Given the description of an element on the screen output the (x, y) to click on. 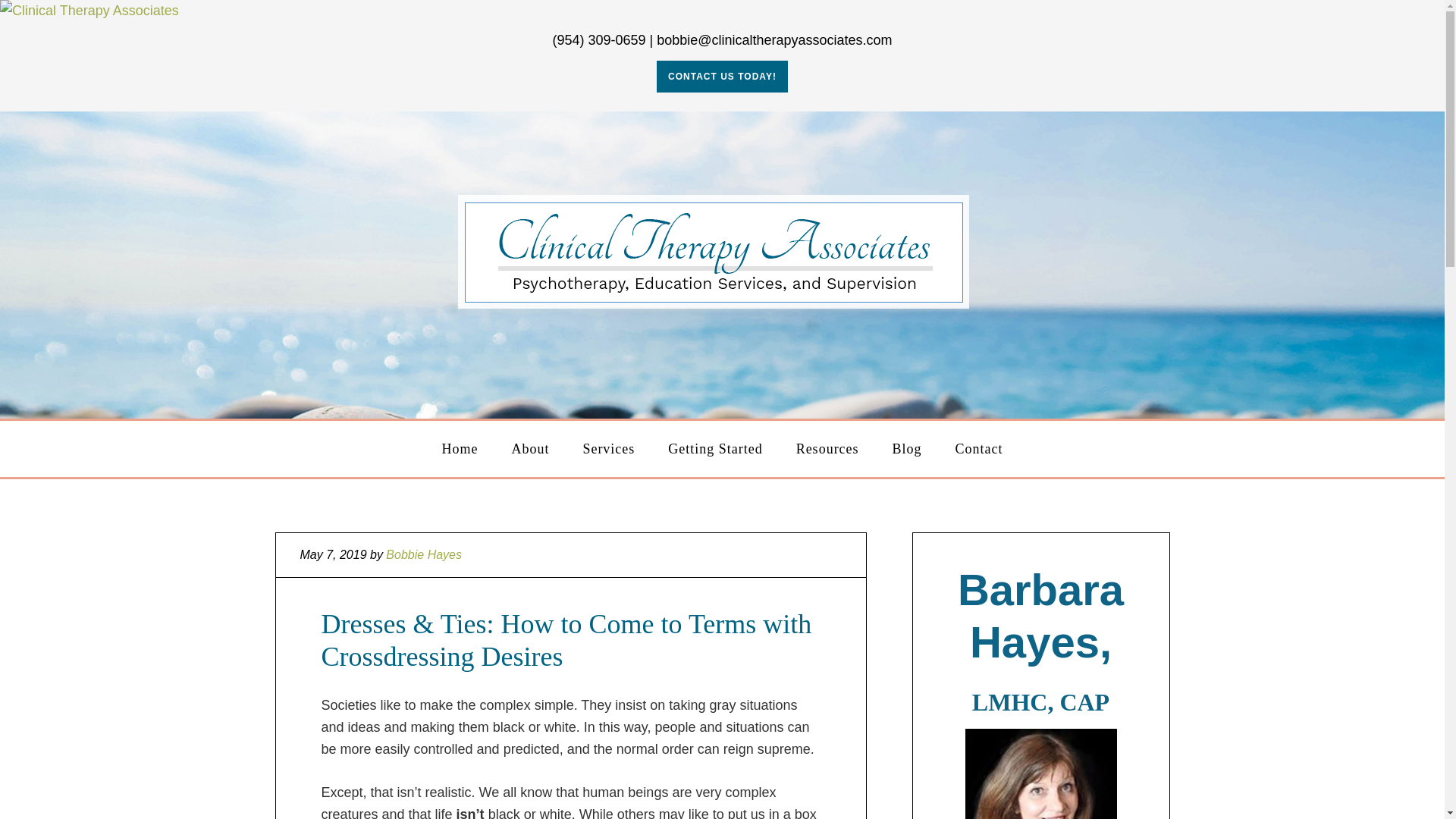
CONTACT US TODAY! (721, 76)
Home (459, 447)
Resources (827, 447)
Getting Started (714, 447)
Bobbie Hayes (423, 553)
Services (608, 447)
Clinical Therapy Associates (89, 11)
CLINICAL THERAPY ASSOCIATES (723, 260)
About (530, 447)
Blog (906, 447)
Contact (978, 447)
